Given the description of an element on the screen output the (x, y) to click on. 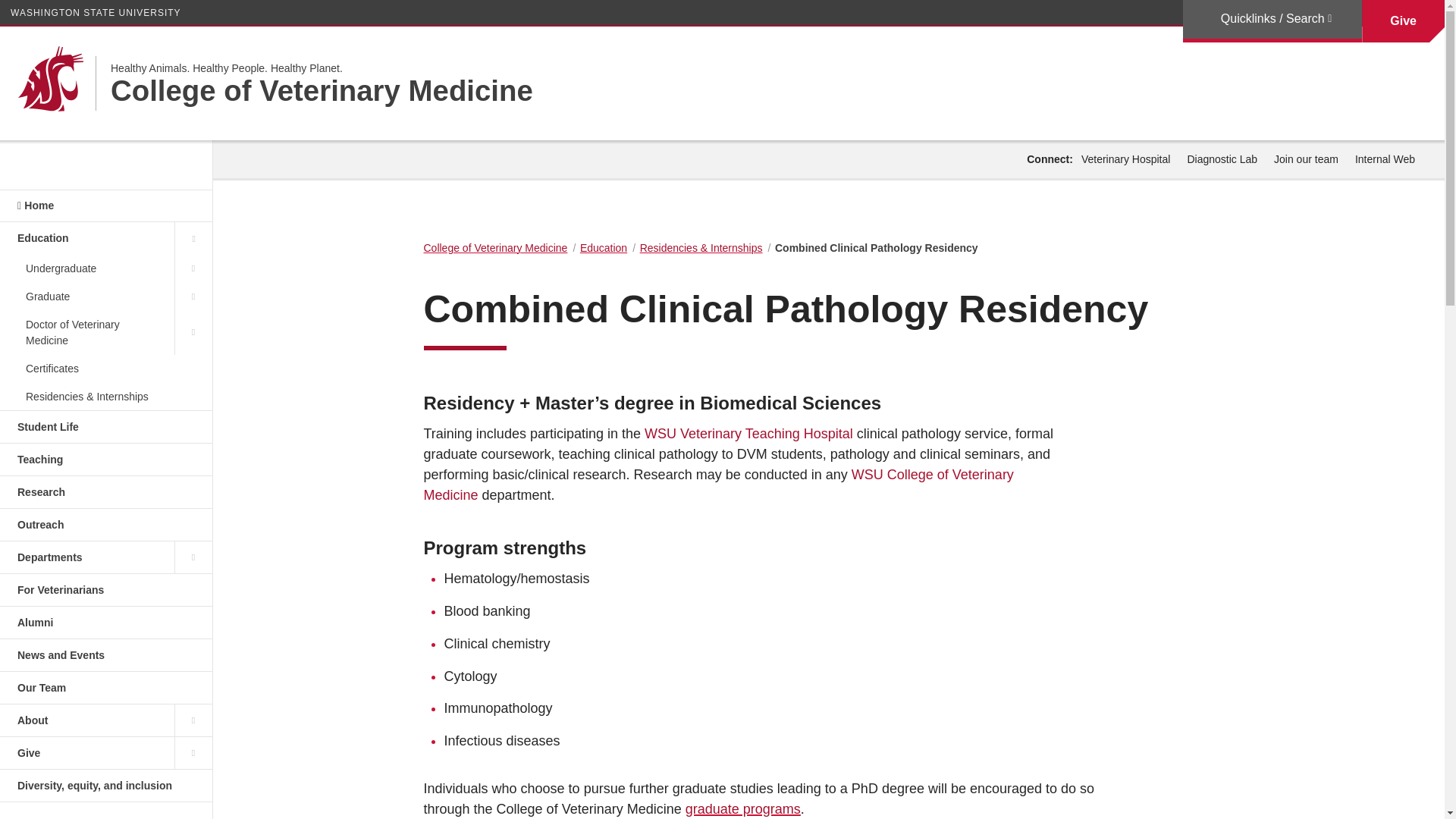
Go to Education. (603, 247)
WASHINGTON STATE UNIVERSITY (96, 12)
Go to College of Veterinary Medicine. (495, 247)
